Given the description of an element on the screen output the (x, y) to click on. 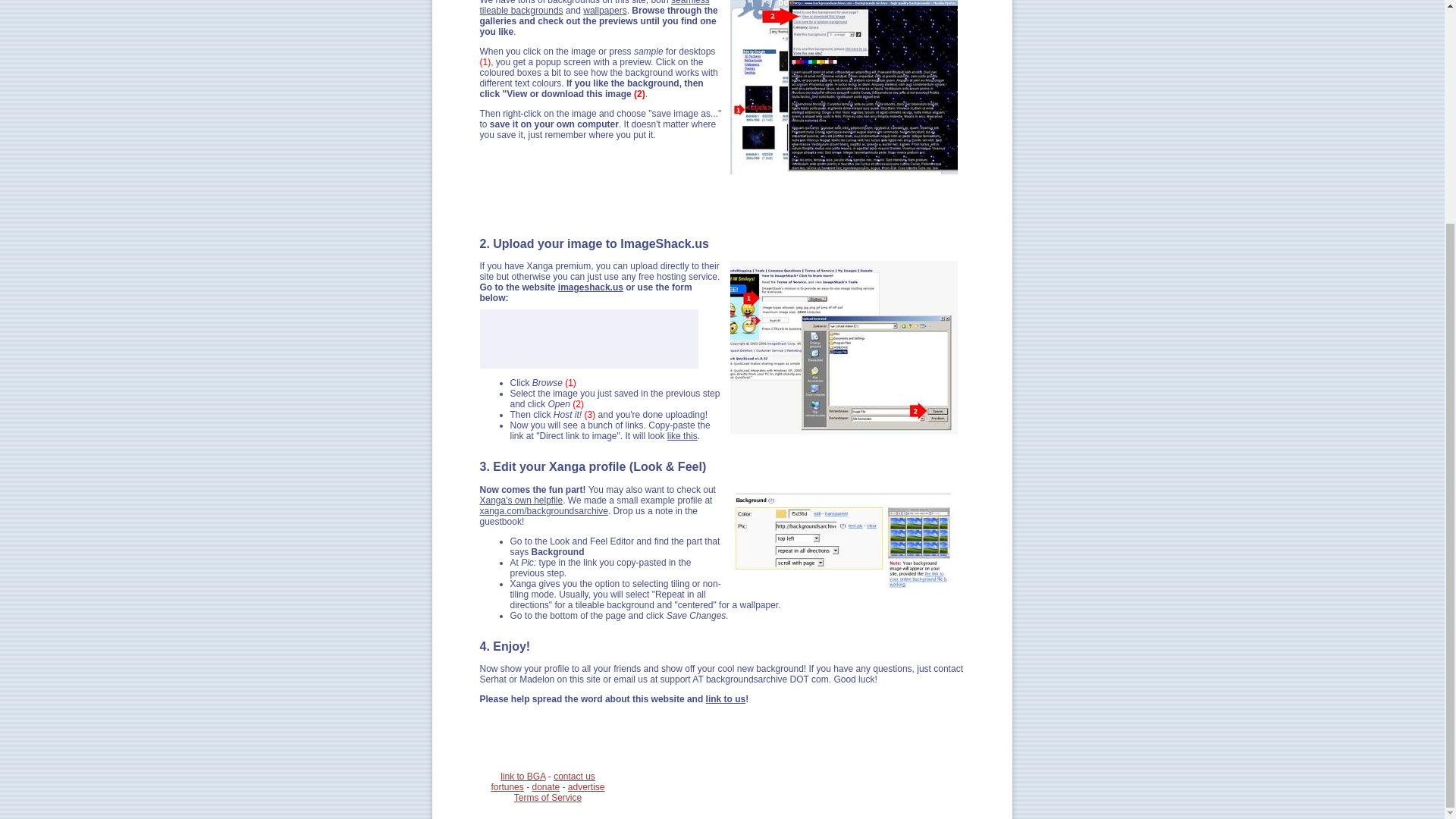
wallpapers (604, 9)
imageshack.us (590, 286)
donate (545, 787)
Terms of Service (546, 797)
link to us (725, 698)
contact us (574, 776)
fortunes (506, 787)
Please help spread the word about this website and (591, 698)
like this (681, 435)
